Given the description of an element on the screen output the (x, y) to click on. 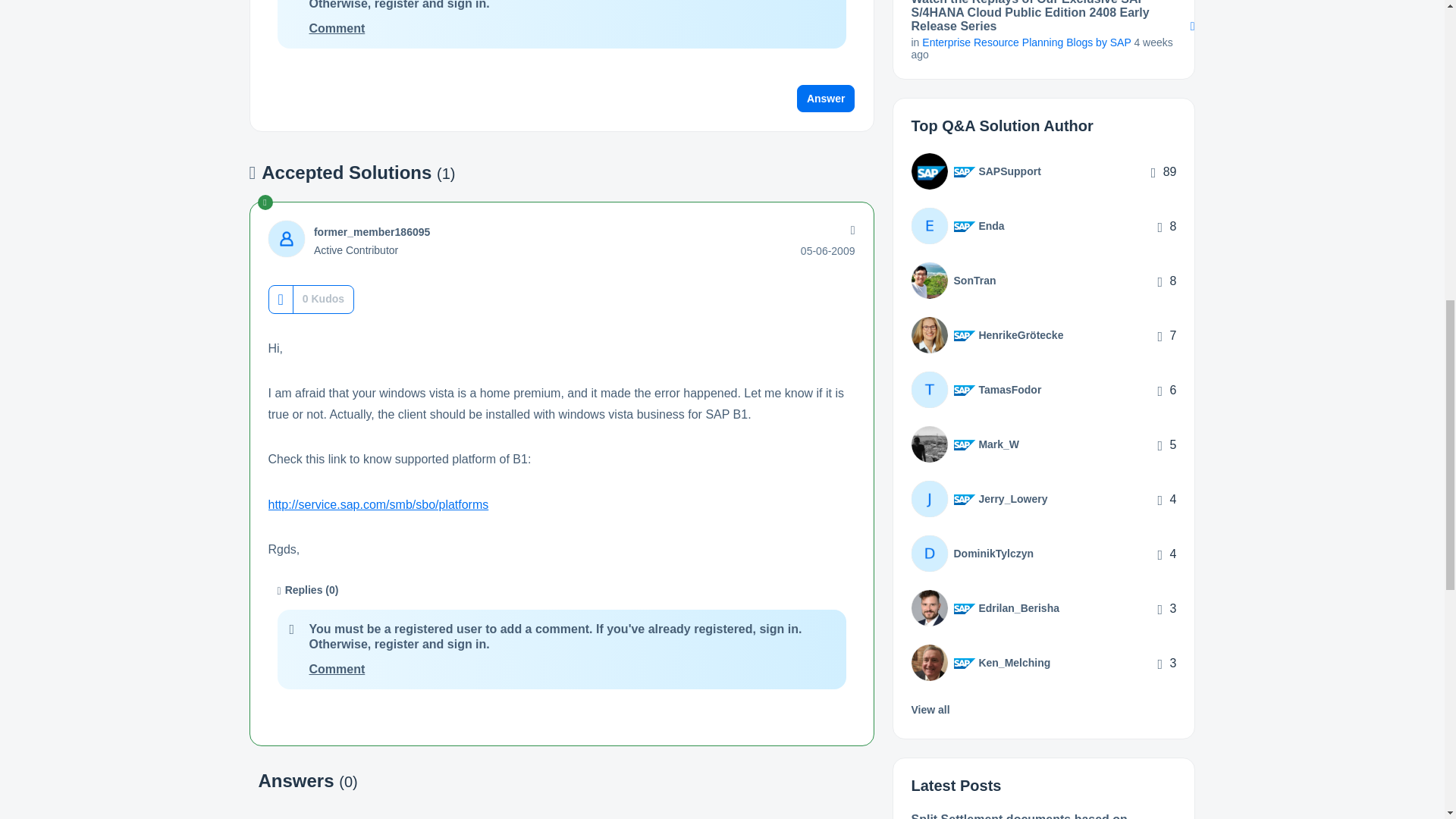
Posted on (828, 250)
Comment (336, 28)
Answer (826, 98)
